Given the description of an element on the screen output the (x, y) to click on. 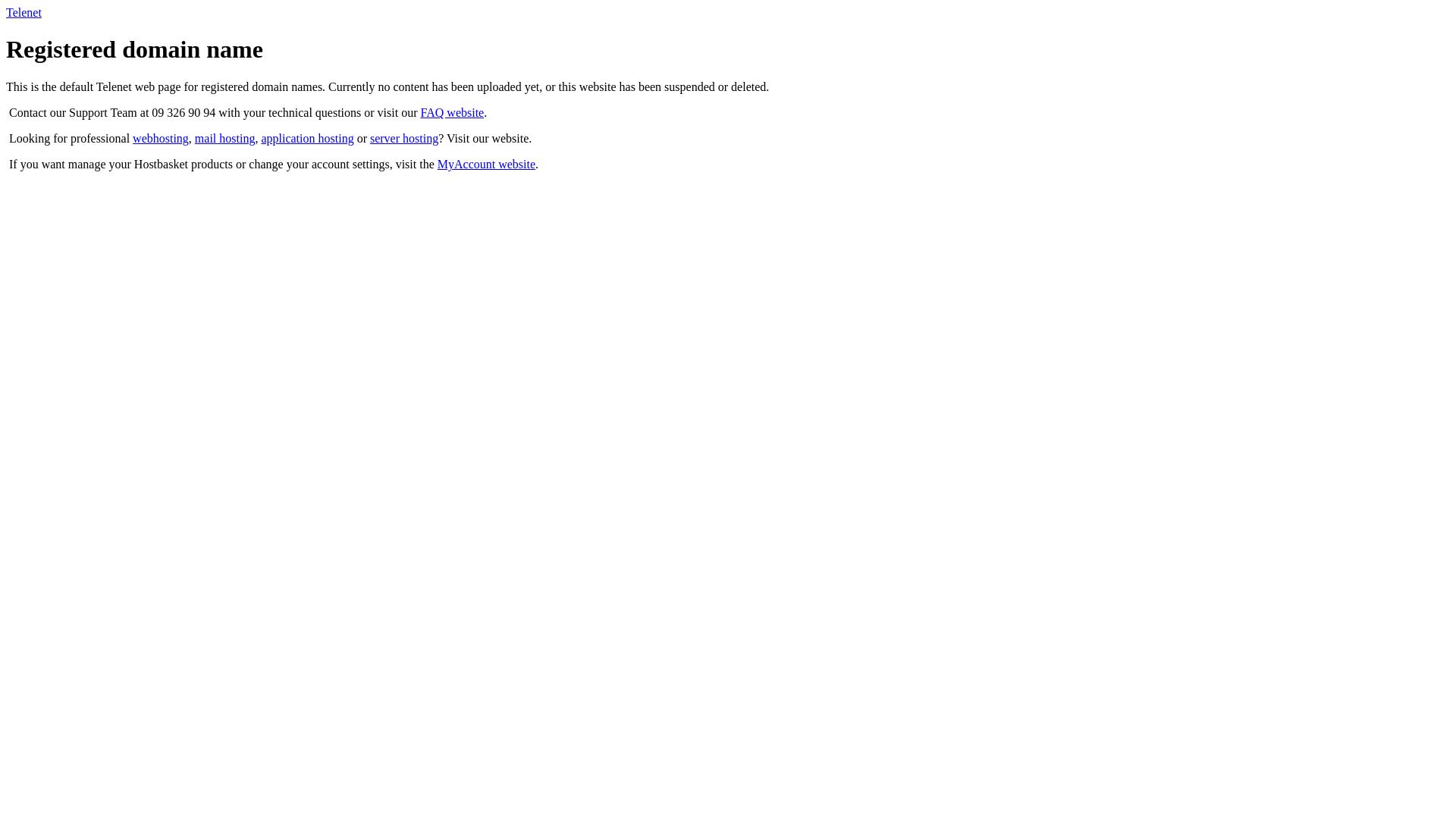
server hosting Element type: text (404, 137)
MyAccount website Element type: text (486, 163)
FAQ website Element type: text (452, 112)
mail hosting Element type: text (224, 137)
Telenet Element type: text (23, 12)
webhosting Element type: text (160, 137)
application hosting Element type: text (306, 137)
